Given the description of an element on the screen output the (x, y) to click on. 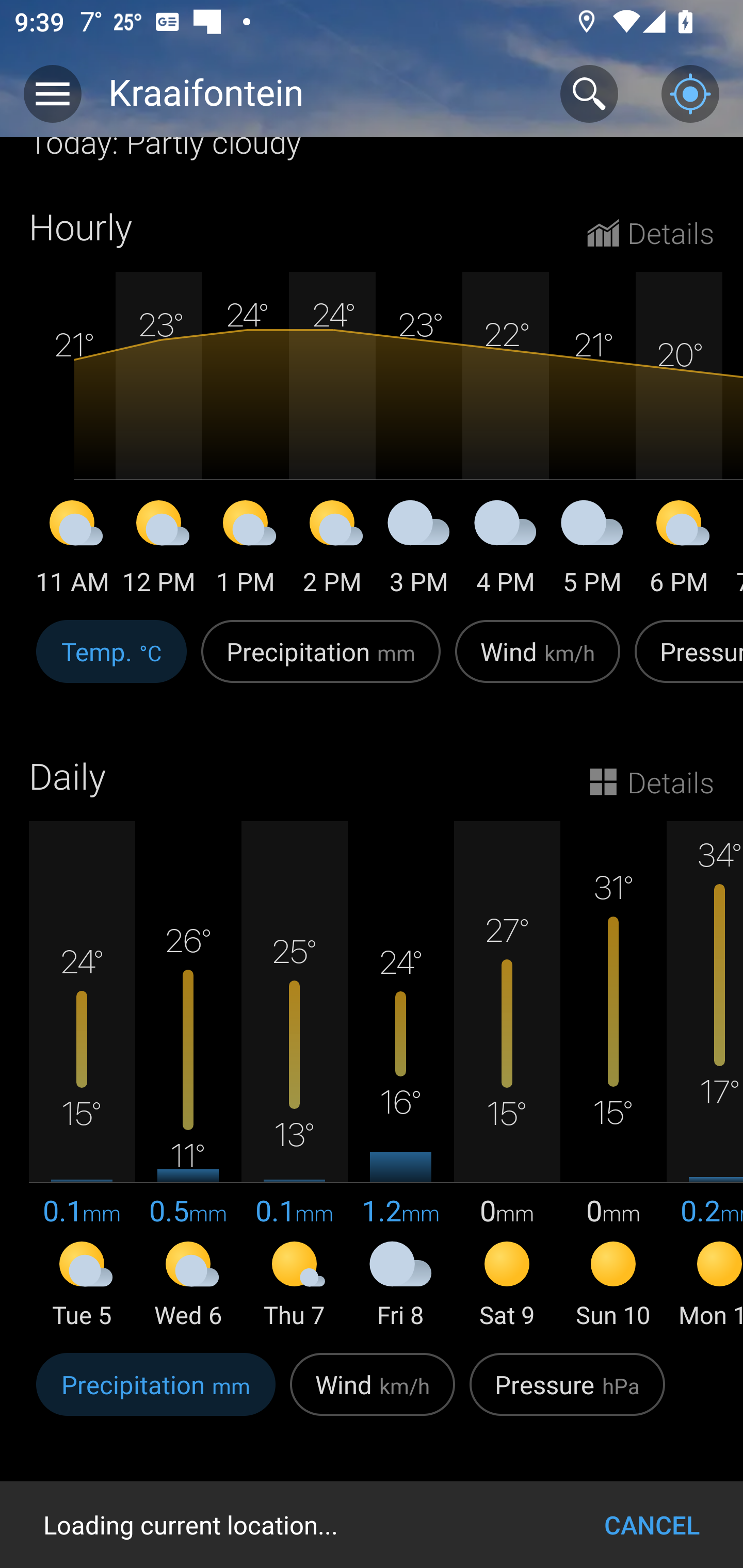
11 AM (71, 551)
12 PM (158, 551)
1 PM (245, 551)
2 PM (332, 551)
3 PM (418, 551)
4 PM (505, 551)
5 PM (592, 551)
6 PM (679, 551)
Temp. °C (110, 662)
Precipitation mm (320, 662)
Wind km/h (537, 662)
Pressure (685, 662)
24° 15° 0.1 mm Tue 5 (81, 1076)
26° 11° 0.5 mm Wed 6 (188, 1076)
25° 13° 0.1 mm Thu 7 (294, 1076)
24° 16° 1.2 mm Fri 8 (400, 1076)
27° 15° 0 mm Sat 9 (506, 1076)
31° 15° 0 mm Sun 10 (613, 1076)
34° 17° 0.2 mm Mon 11 (704, 1076)
Precipitation mm (155, 1394)
Wind km/h (372, 1394)
Pressure hPa (567, 1394)
Loading current location... CANCEL (371, 1524)
CANCEL (651, 1524)
